Given the description of an element on the screen output the (x, y) to click on. 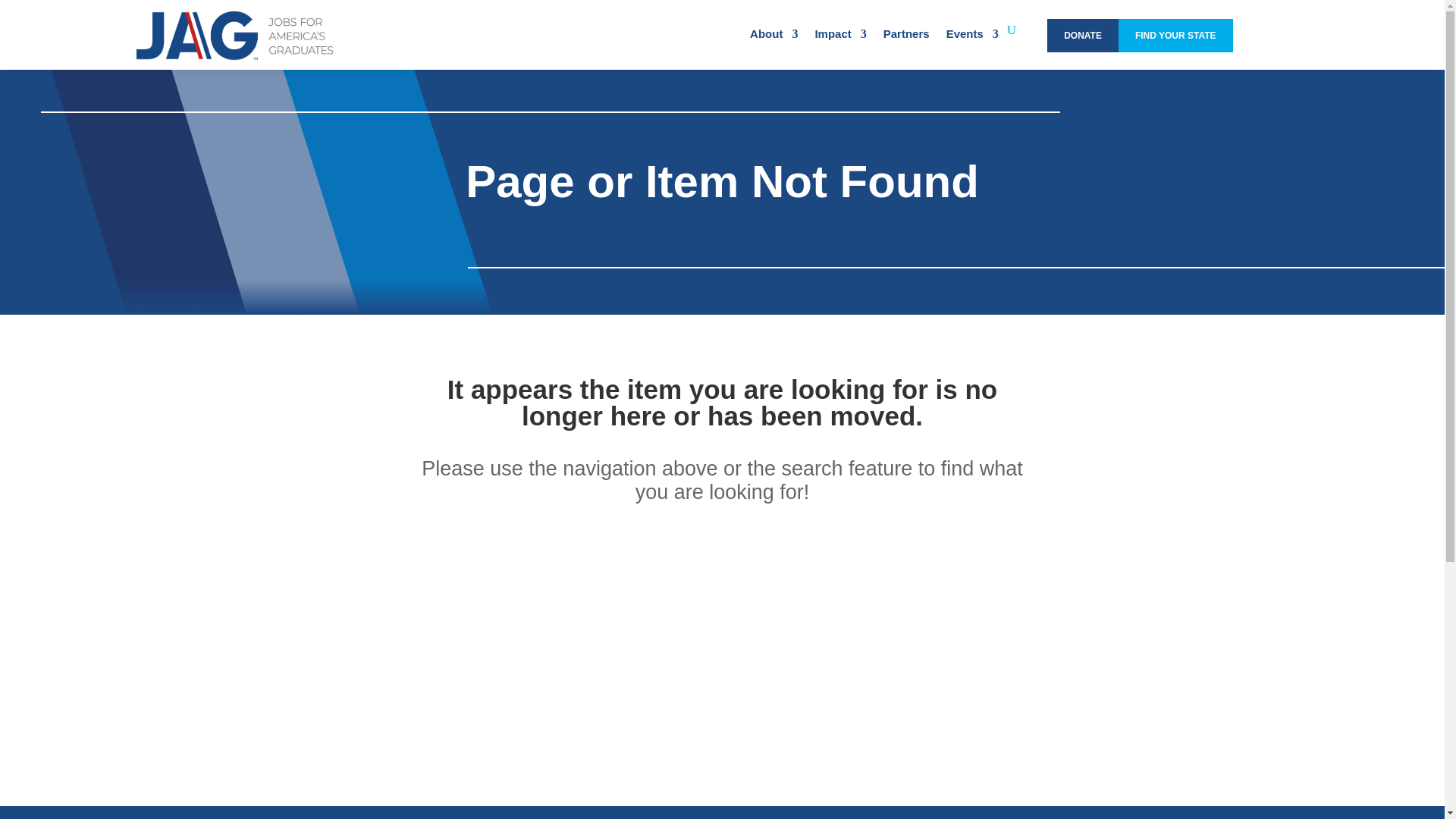
Partners (906, 48)
Events (972, 48)
About (773, 48)
JAG-Horizontal-Logo-Full-Name-Large (234, 35)
Impact (839, 48)
